Given the description of an element on the screen output the (x, y) to click on. 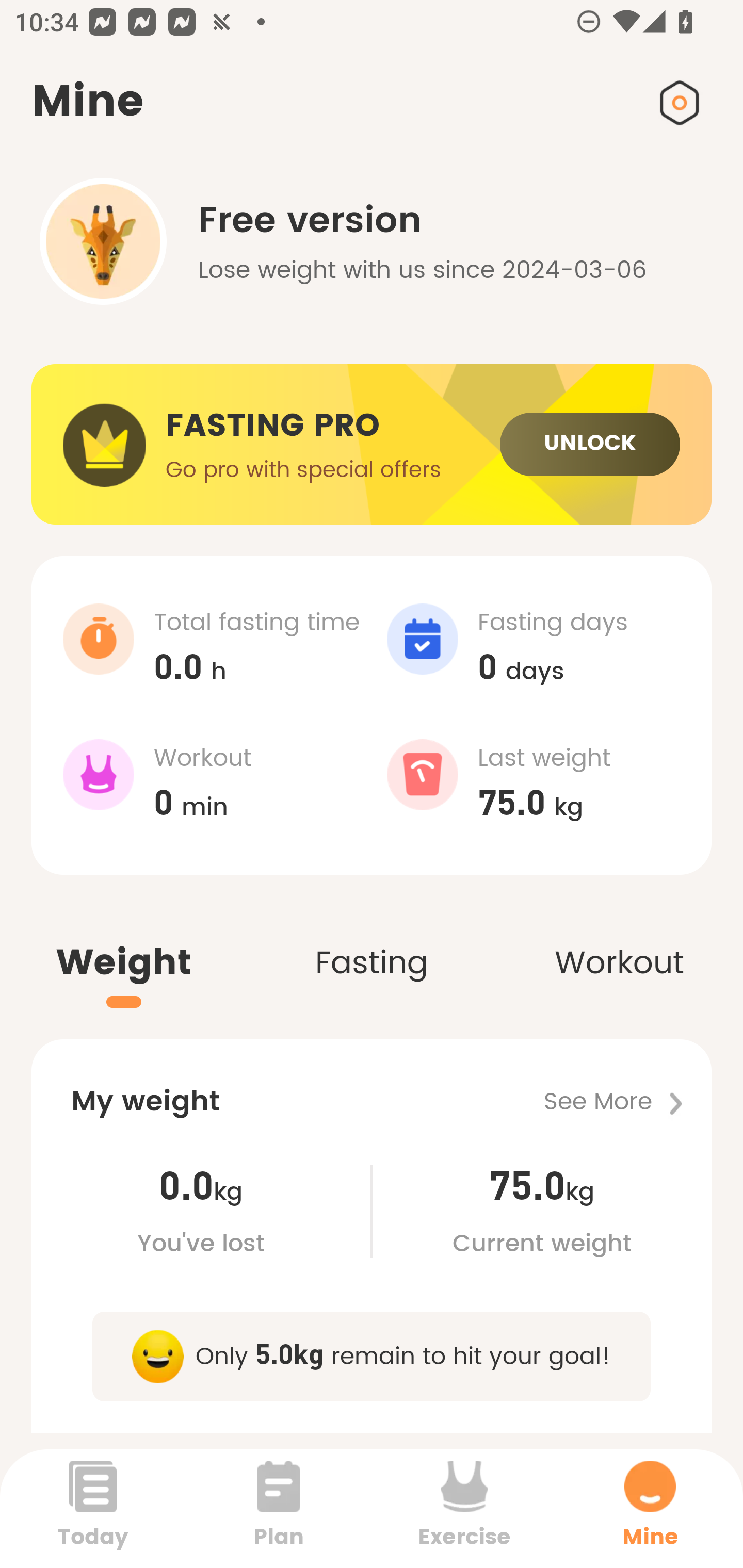
FASTING PRO Go pro with special offers UNLOCK (371, 444)
Fasting (371, 941)
Workout (619, 941)
See More (627, 1101)
Today (92, 1508)
Plan (278, 1508)
Exercise (464, 1508)
